Given the description of an element on the screen output the (x, y) to click on. 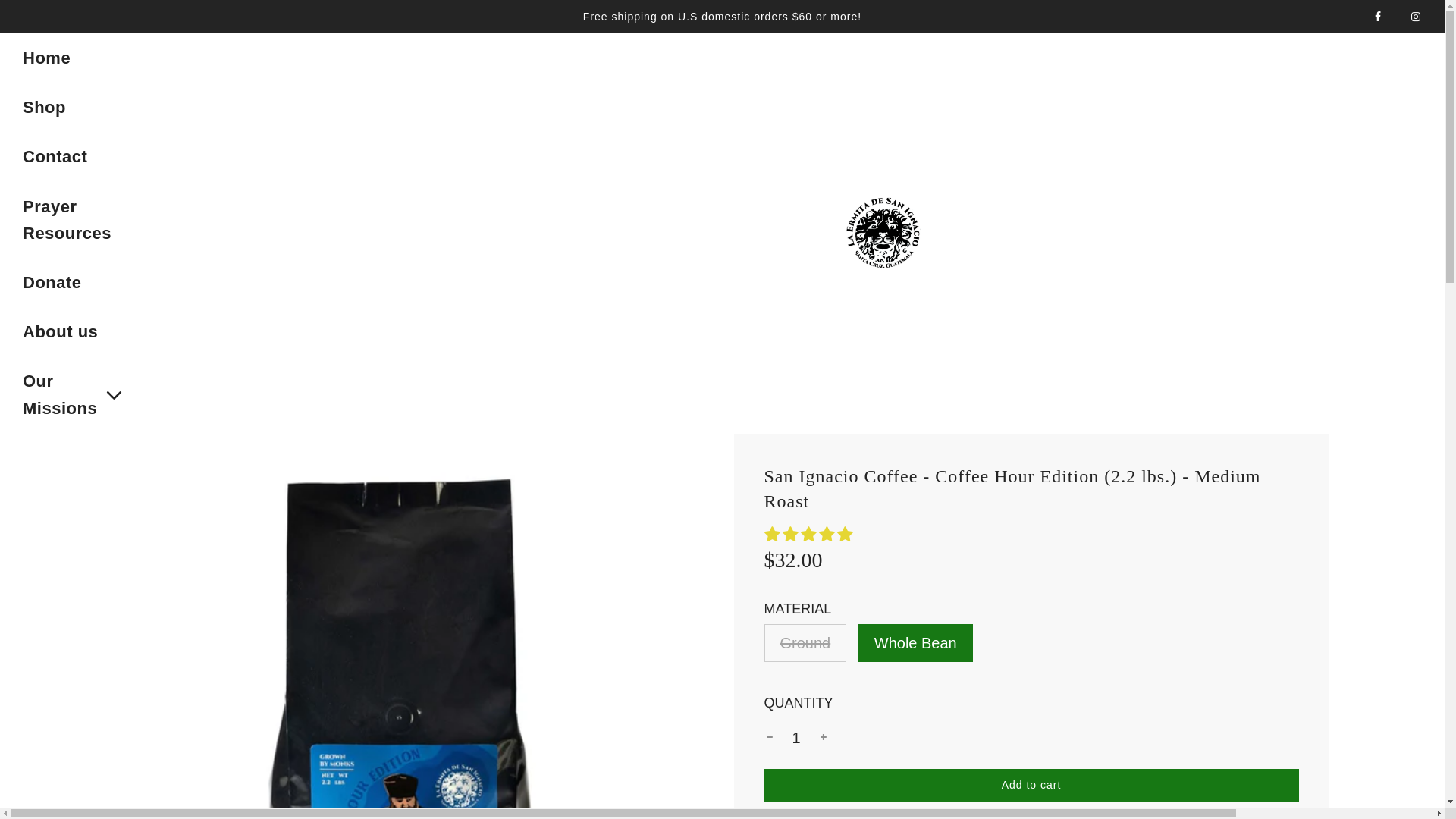
Prayer Resources (74, 219)
Our Missions (1031, 785)
Contact (74, 394)
Home (55, 155)
1 (46, 57)
Shop (796, 737)
Donate (44, 106)
